Given the description of an element on the screen output the (x, y) to click on. 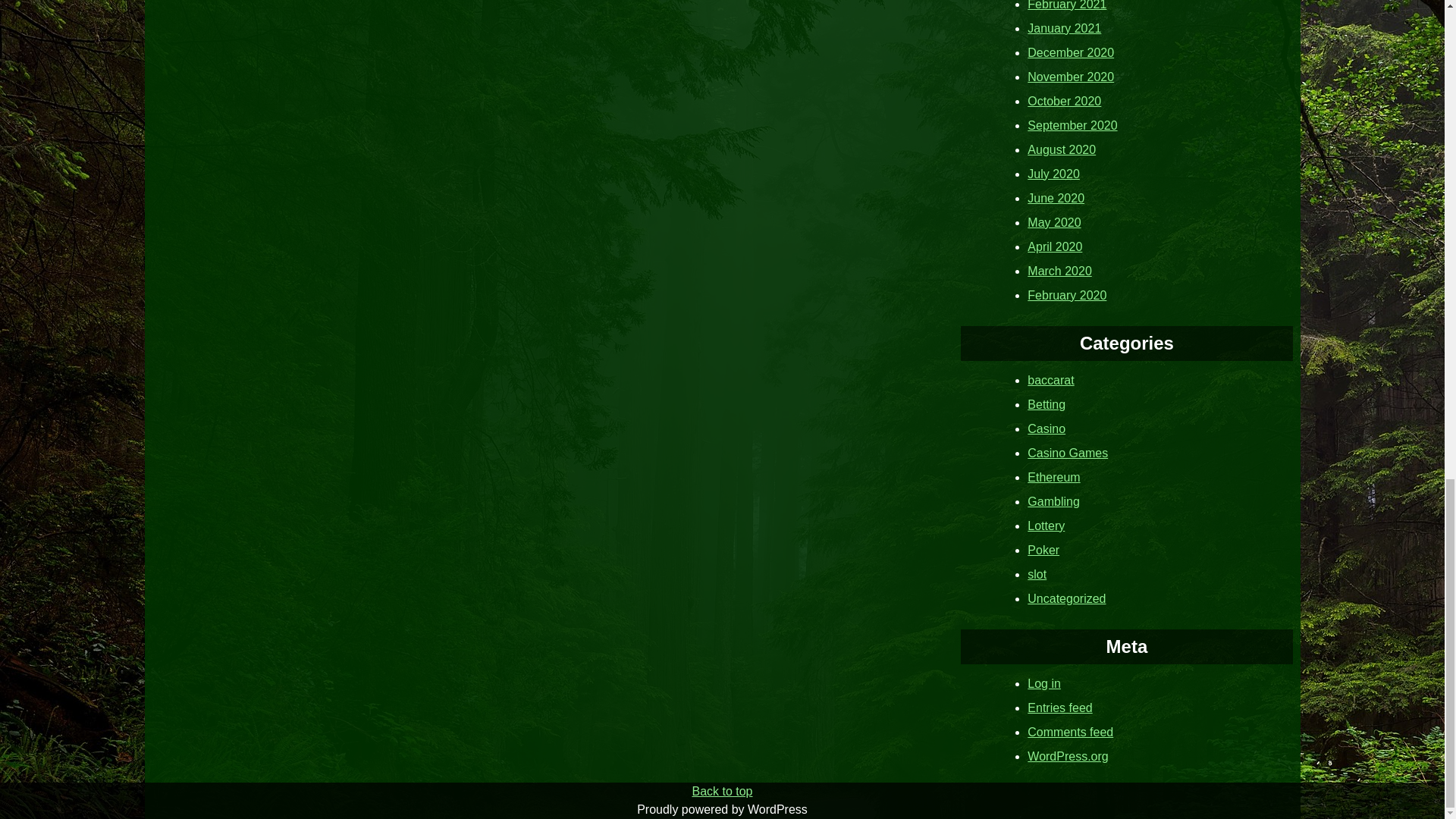
February 2021 (1066, 4)
